Given the description of an element on the screen output the (x, y) to click on. 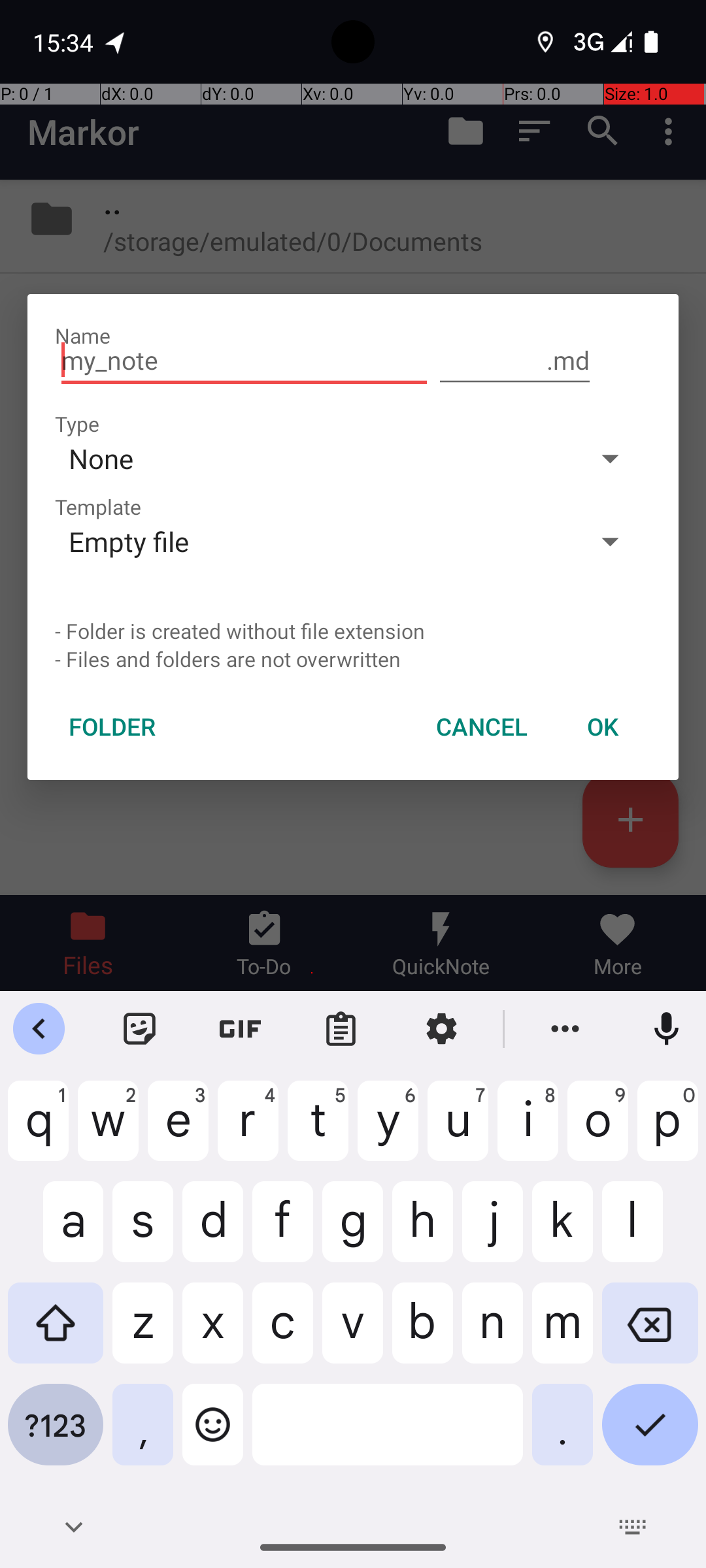
my_note Element type: android.widget.EditText (243, 360)
.md Element type: android.widget.EditText (514, 360)
None Element type: android.widget.TextView (311, 457)
Empty file Element type: android.widget.TextView (311, 540)
